Given the description of an element on the screen output the (x, y) to click on. 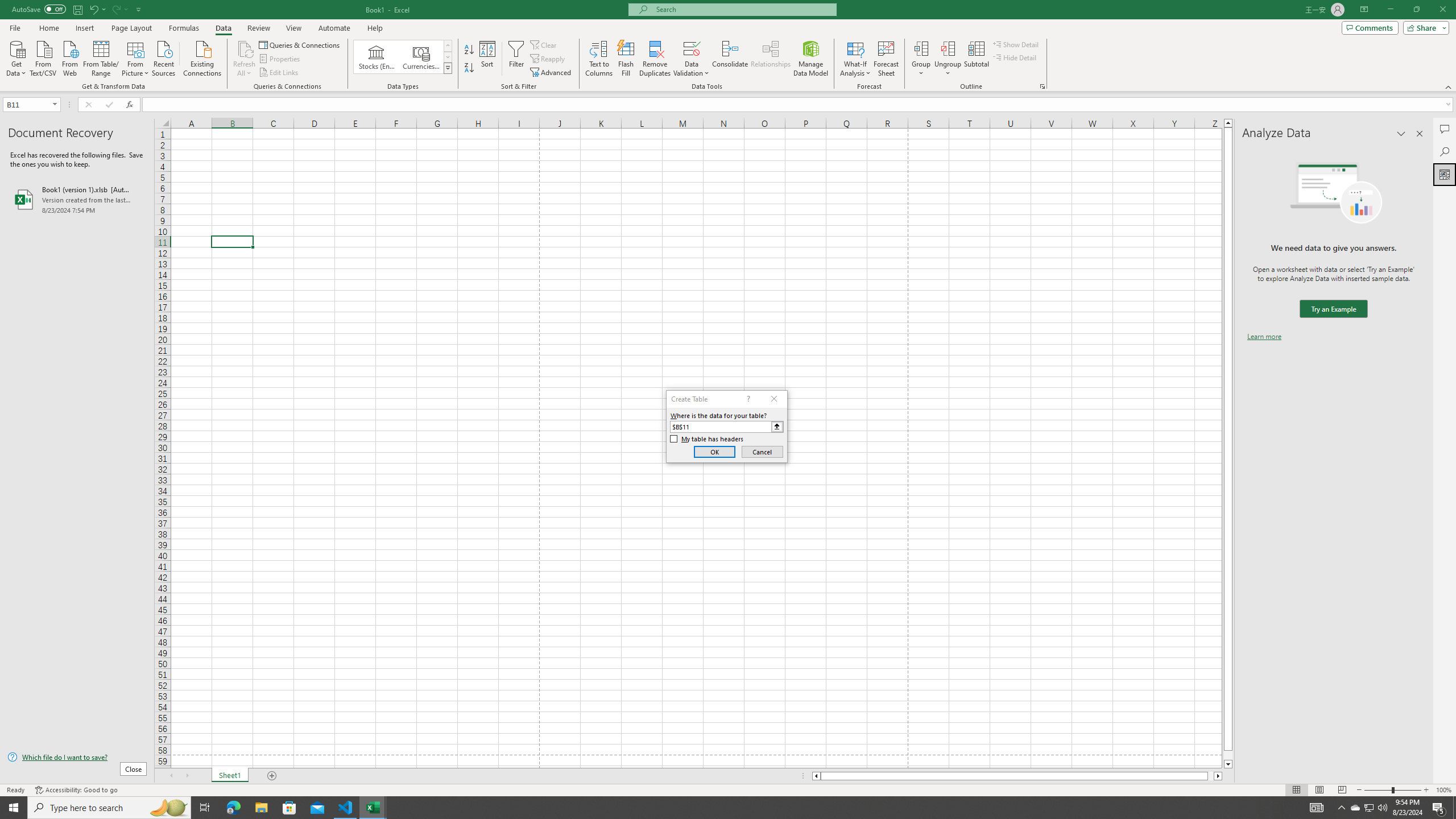
We need data to give you answers. Try an Example (1333, 308)
Scroll Left (171, 775)
Row Down (448, 56)
Subtotal (976, 58)
Analyze Data (1444, 173)
Close (1442, 9)
Quick Access Toolbar (77, 9)
Page Break Preview (1342, 790)
Forecast Sheet (885, 58)
Ribbon Display Options (1364, 9)
AutoSave (38, 9)
Class: MsoCommandBar (728, 45)
Formulas (184, 28)
Queries & Connections (300, 44)
